Given the description of an element on the screen output the (x, y) to click on. 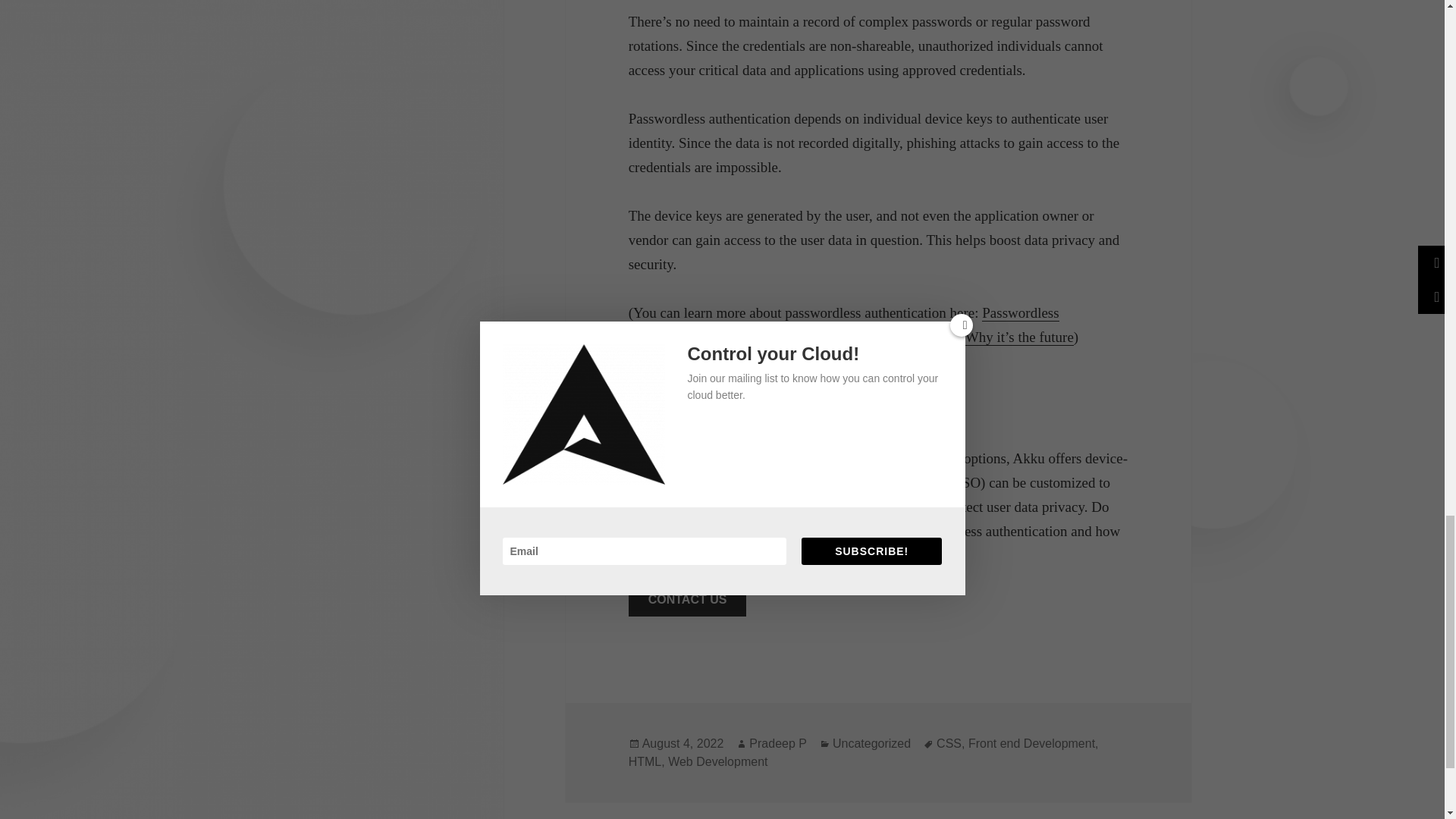
CONTACT US (687, 599)
Akku (751, 555)
August 4, 2022 (682, 744)
Pradeep P (777, 744)
Web Development (717, 762)
CONTACT US (686, 599)
CSS (948, 744)
HTML (645, 762)
Uncategorized (871, 744)
Front end Development (1031, 744)
